Given the description of an element on the screen output the (x, y) to click on. 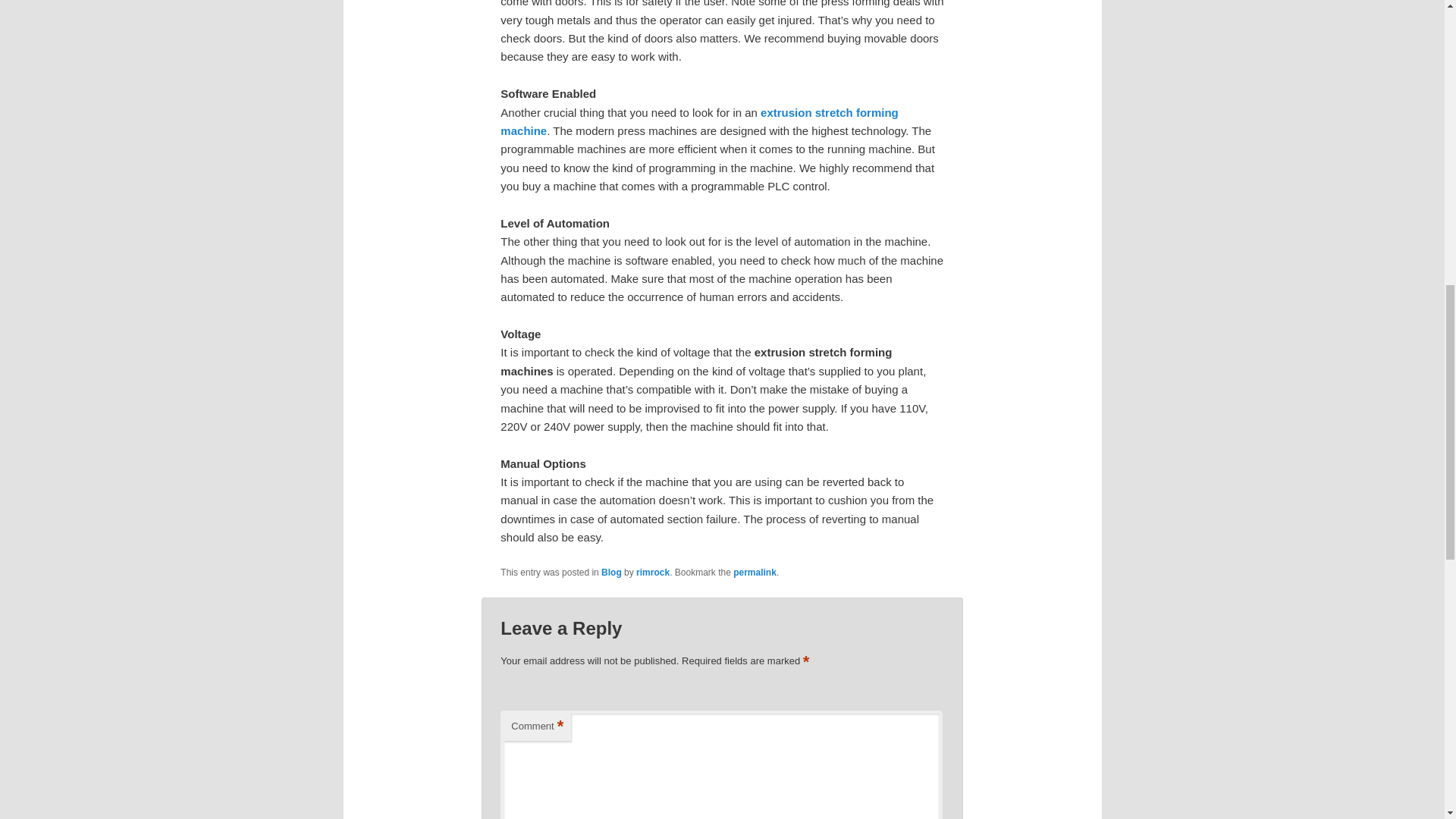
permalink (754, 572)
Blog (611, 572)
extrusion stretch forming machine (699, 121)
rimrock (652, 572)
